Given the description of an element on the screen output the (x, y) to click on. 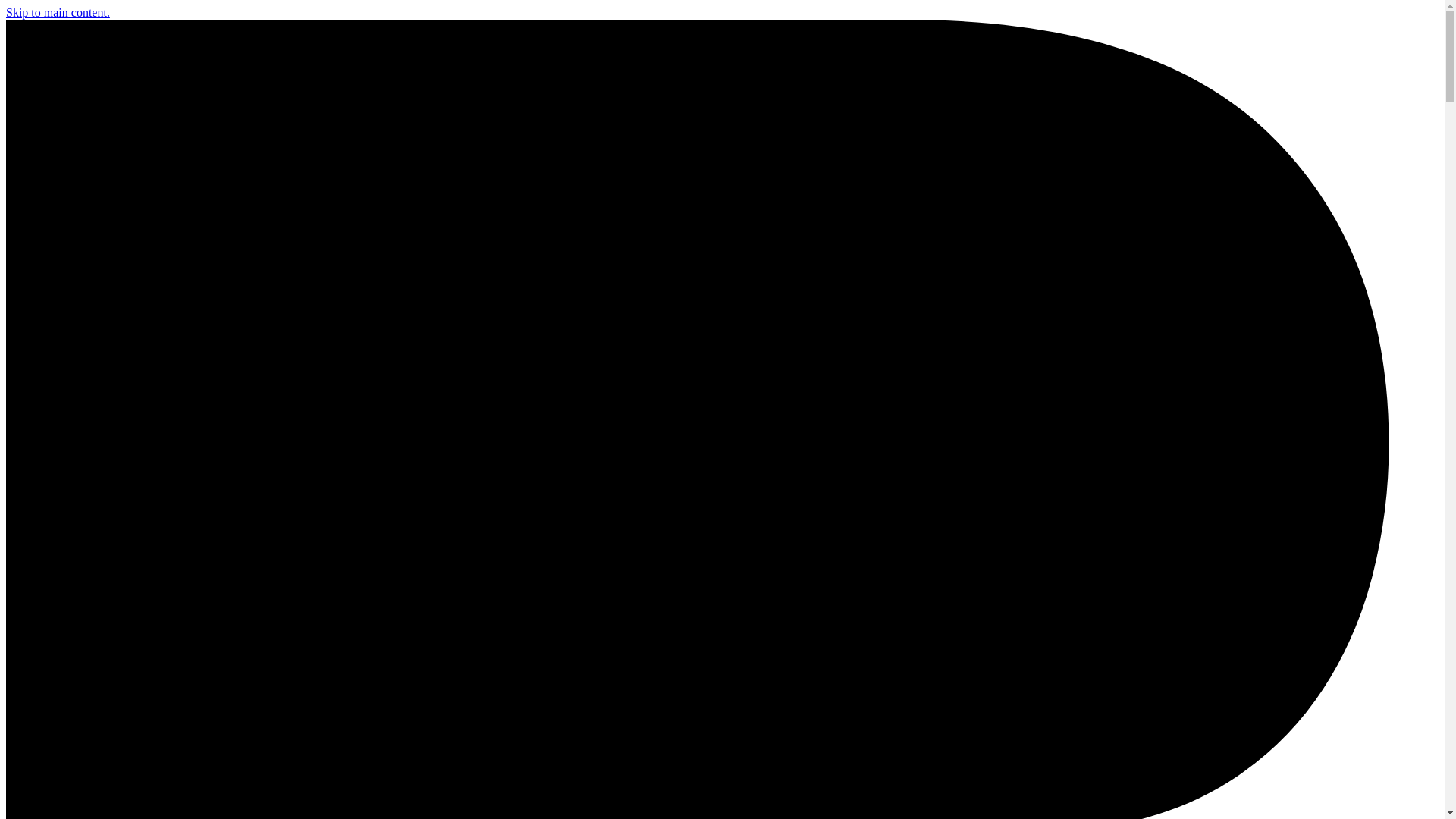
Skip to main content. Element type: text (57, 12)
